Given the description of an element on the screen output the (x, y) to click on. 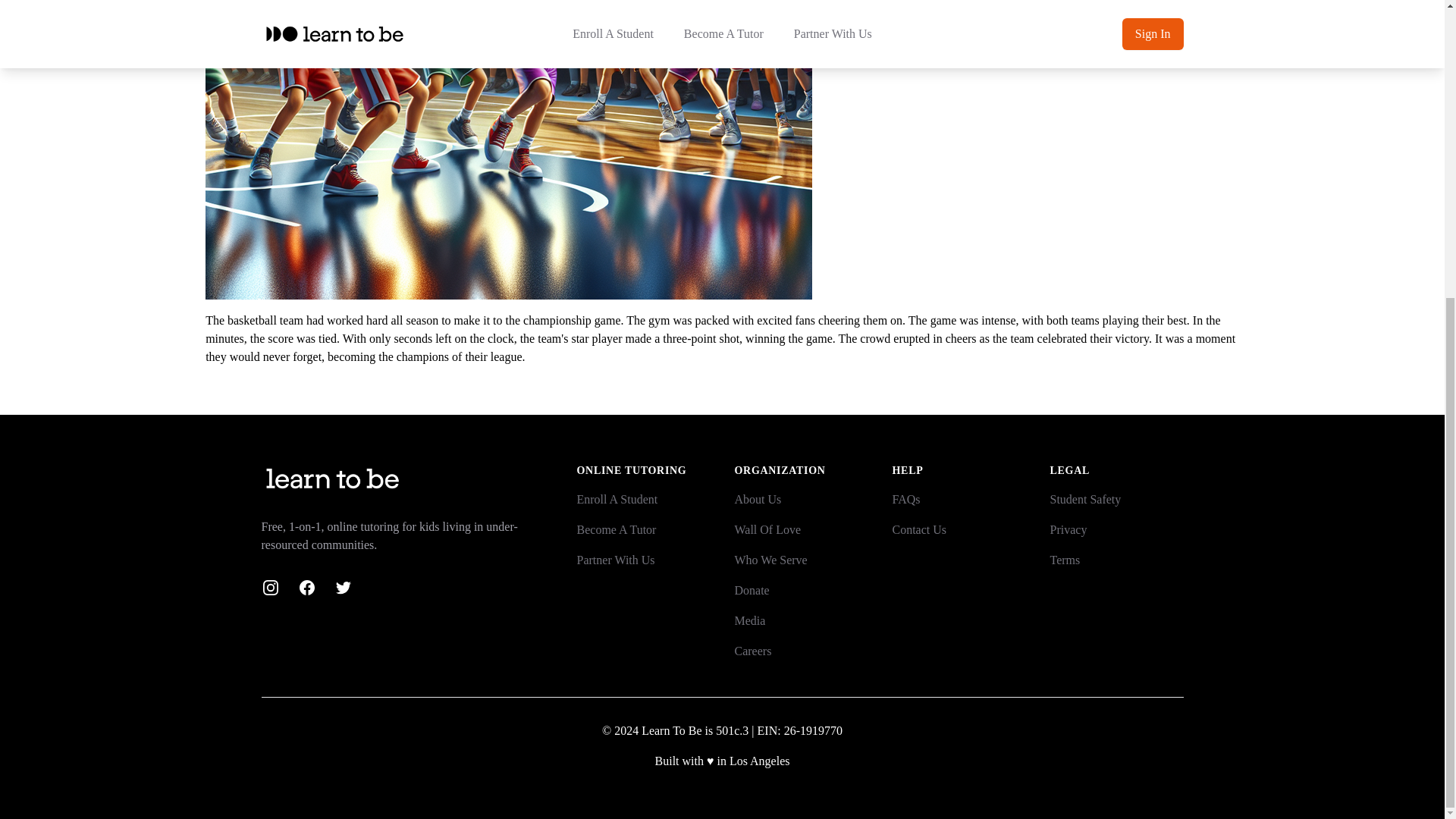
Terms (1064, 559)
Instagram (269, 587)
Facebook (306, 587)
Partner With Us (614, 559)
Careers (752, 650)
Twitter (342, 587)
About Us (756, 499)
Become A Tutor (616, 529)
Donate (750, 590)
Student Safety (1085, 499)
Contact Us (918, 529)
Who We Serve (769, 559)
Media (749, 620)
FAQs (905, 499)
Enroll A Student (617, 499)
